Given the description of an element on the screen output the (x, y) to click on. 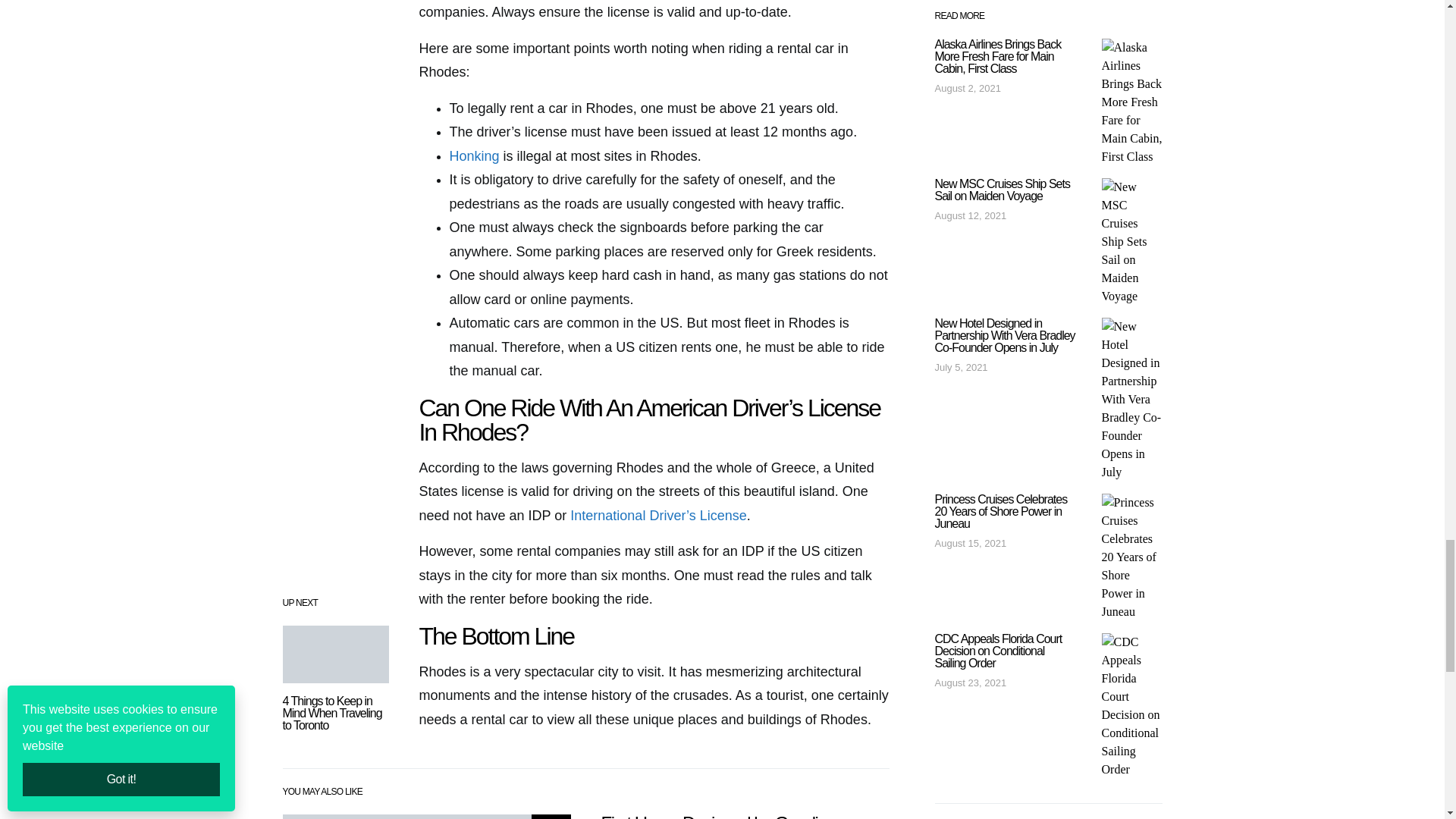
Honking (473, 155)
4 Things to Keep in Mind When Traveling to Toronto (331, 713)
Travel (550, 816)
